Given the description of an element on the screen output the (x, y) to click on. 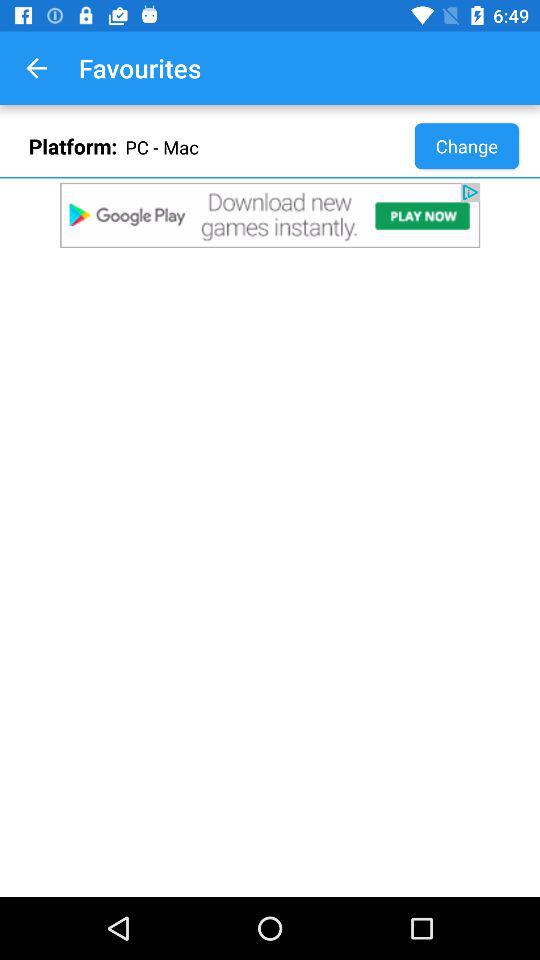
advertisement (270, 215)
